Given the description of an element on the screen output the (x, y) to click on. 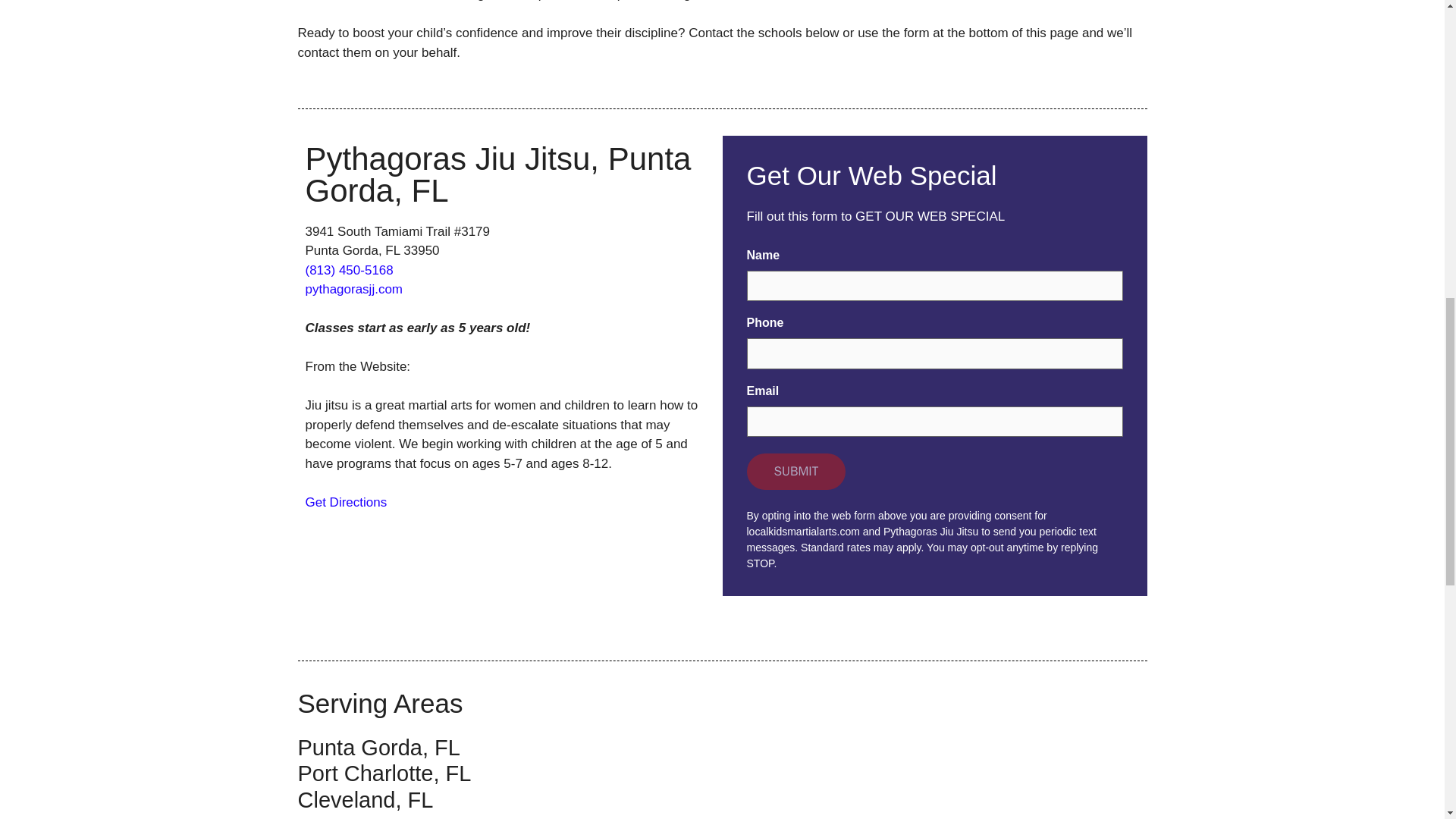
Submit (795, 471)
Submit (795, 471)
Get Directions (345, 501)
pythagorasjj.com (353, 288)
